Given the description of an element on the screen output the (x, y) to click on. 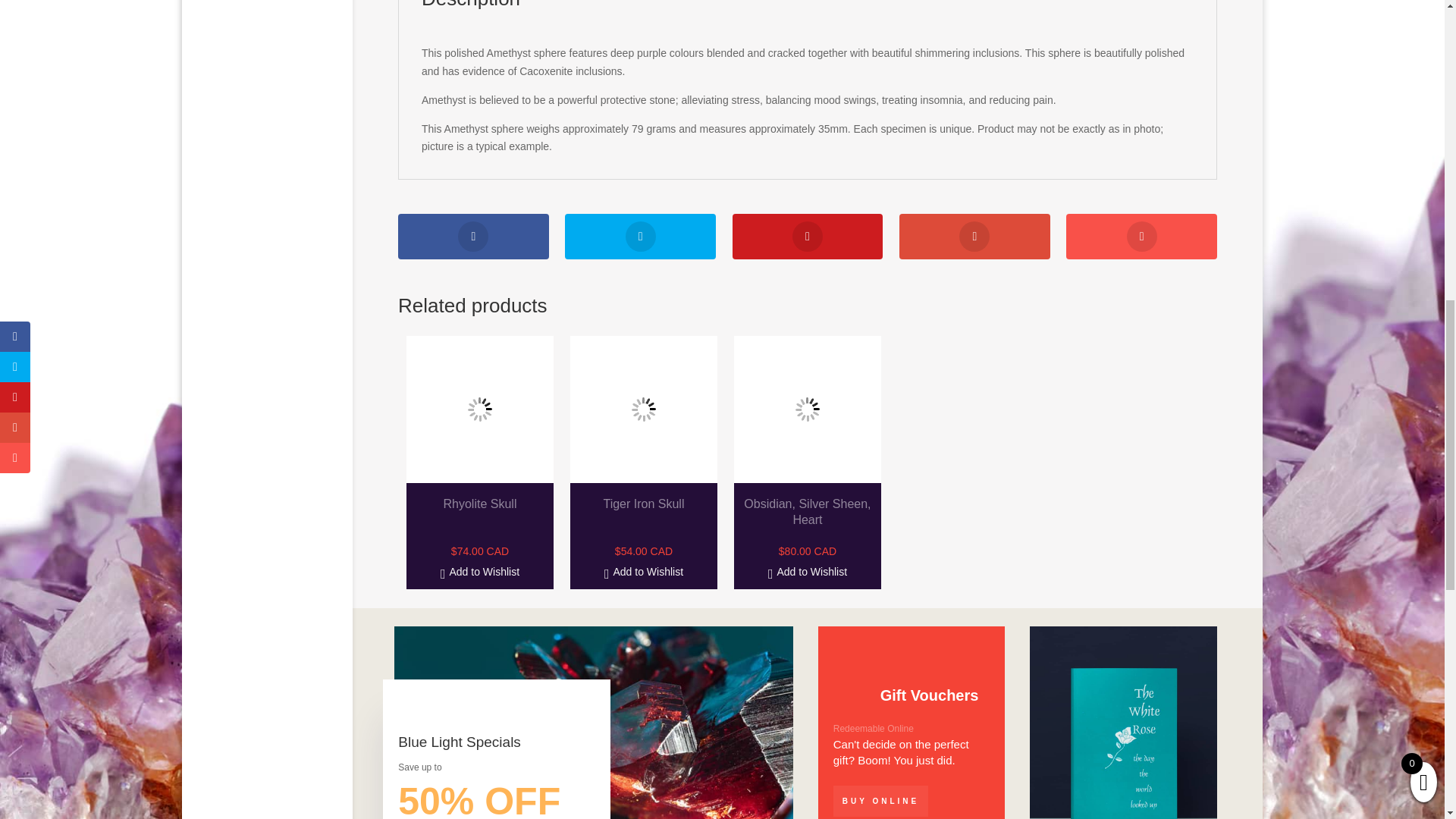
Rhyolite Skull All Polished Crystals crystal skull (479, 409)
Tiger Iron Skull All Polished Crystals skull (643, 409)
Obsidian, Silver Sheen, Heart All Polished Crystals heart (806, 409)
